Given the description of an element on the screen output the (x, y) to click on. 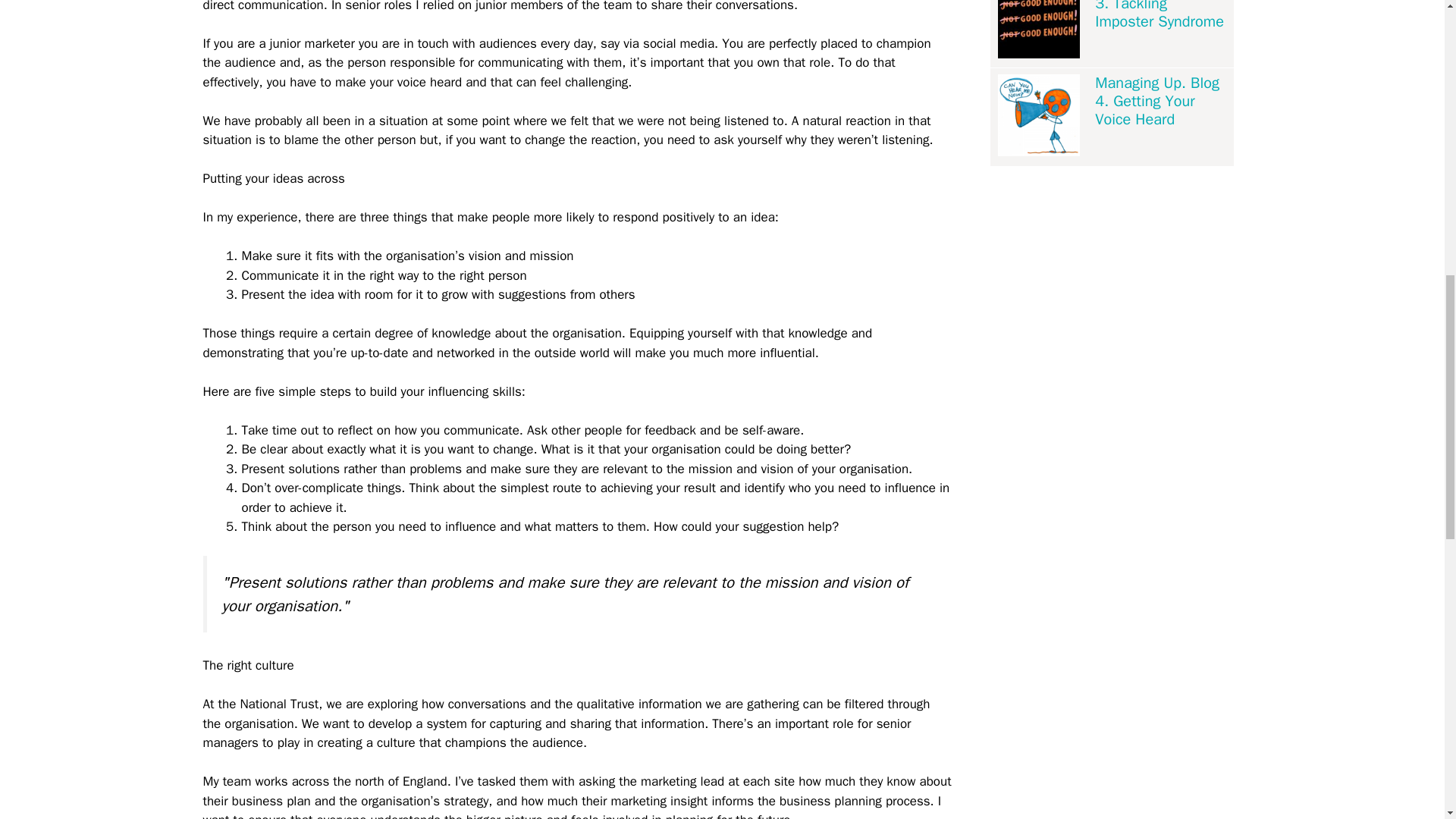
Managing Up. Blog 3. Tackling Imposter Syndrome (1159, 15)
Managing Up. Blog 4. Getting Your Voice Heard (1159, 101)
